Given the description of an element on the screen output the (x, y) to click on. 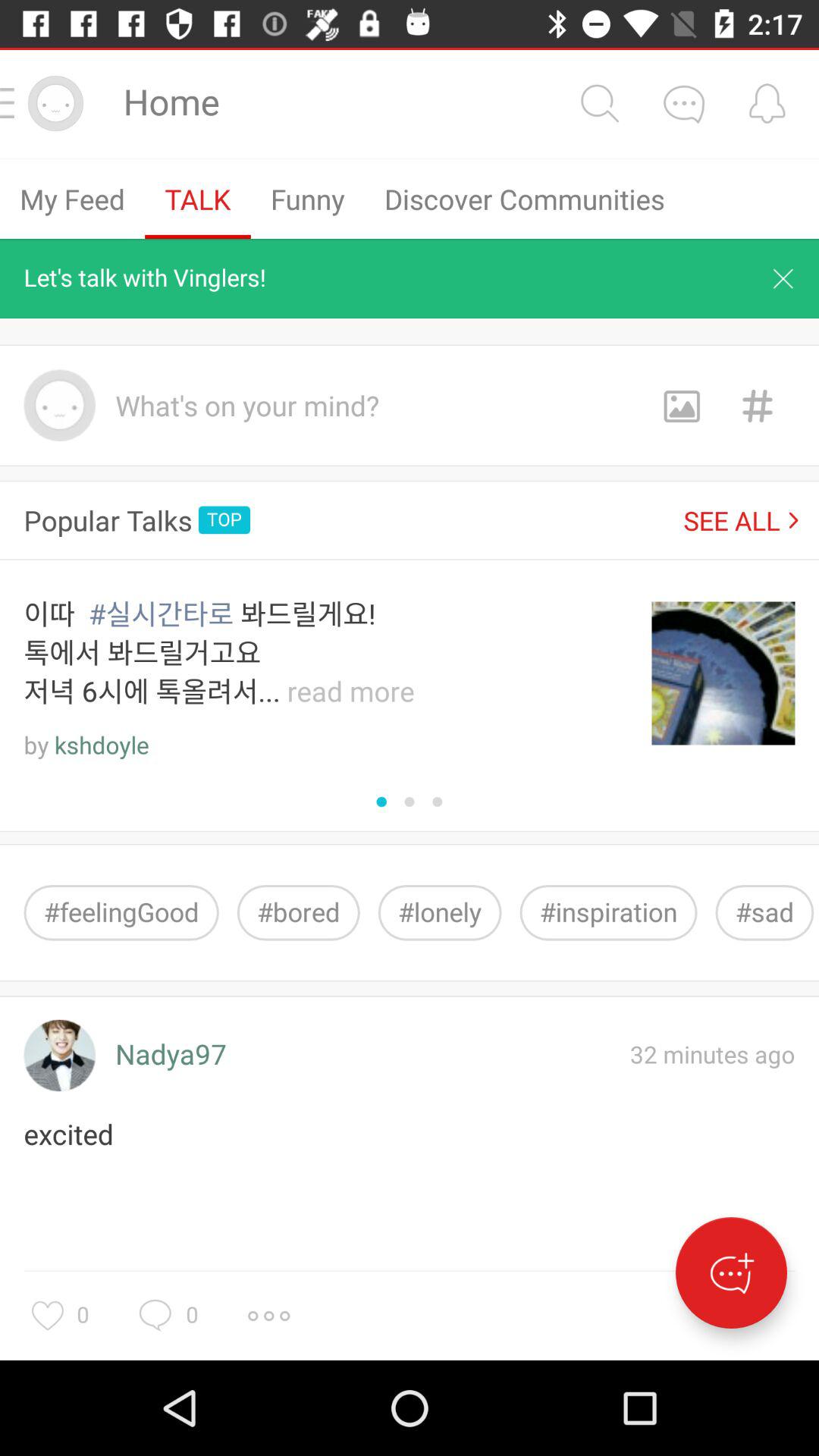
launch the item next to #bored icon (120, 912)
